Given the description of an element on the screen output the (x, y) to click on. 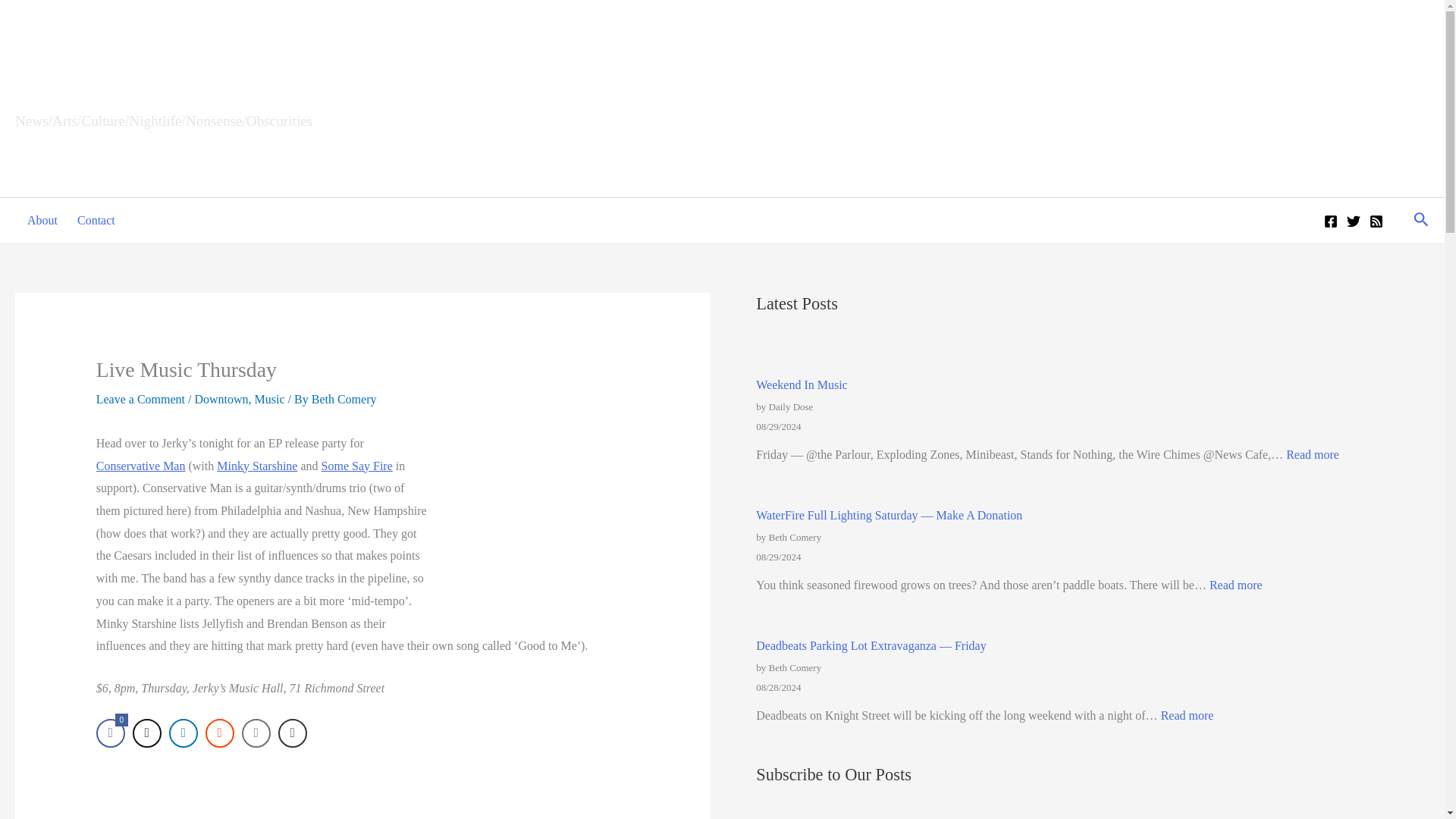
About (39, 220)
Downtown (220, 399)
Weekend In Music (801, 384)
Music (269, 399)
Contact (93, 220)
Providence Daily Dose (194, 87)
Minky Starshine (256, 465)
Some Say Fire (357, 465)
Beth Comery (344, 399)
Conservative Man (141, 465)
